Given the description of an element on the screen output the (x, y) to click on. 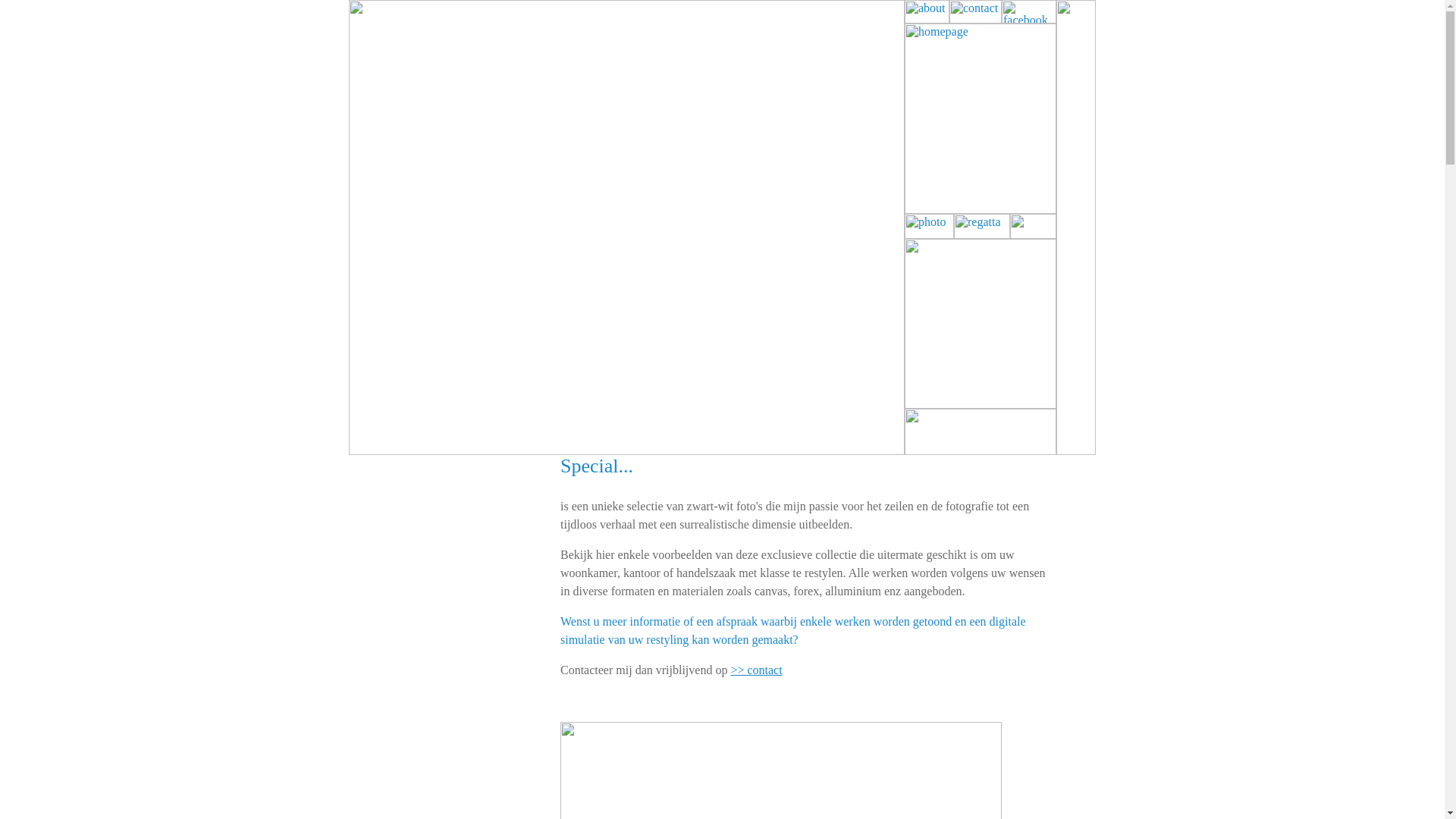
>> contact Element type: text (755, 669)
